Given the description of an element on the screen output the (x, y) to click on. 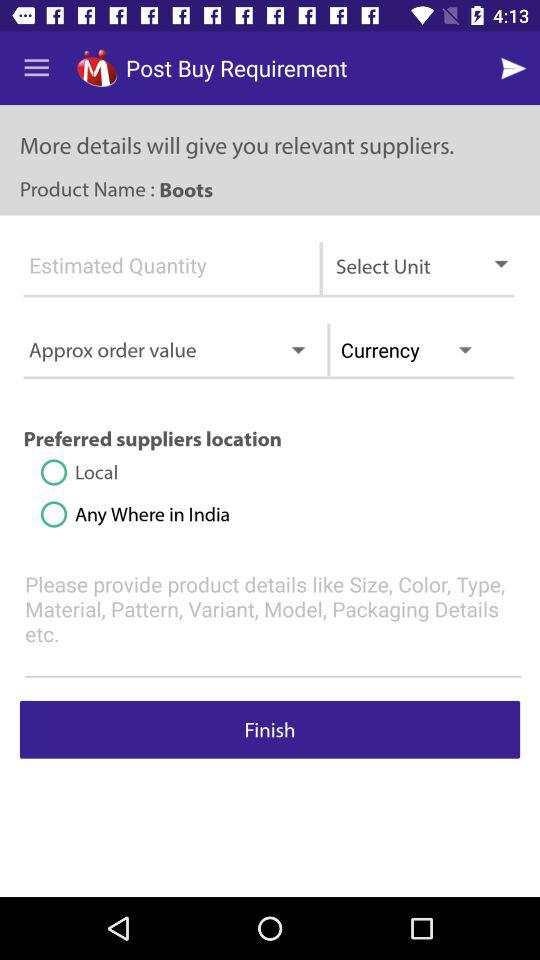
drop down menu (159, 273)
